Given the description of an element on the screen output the (x, y) to click on. 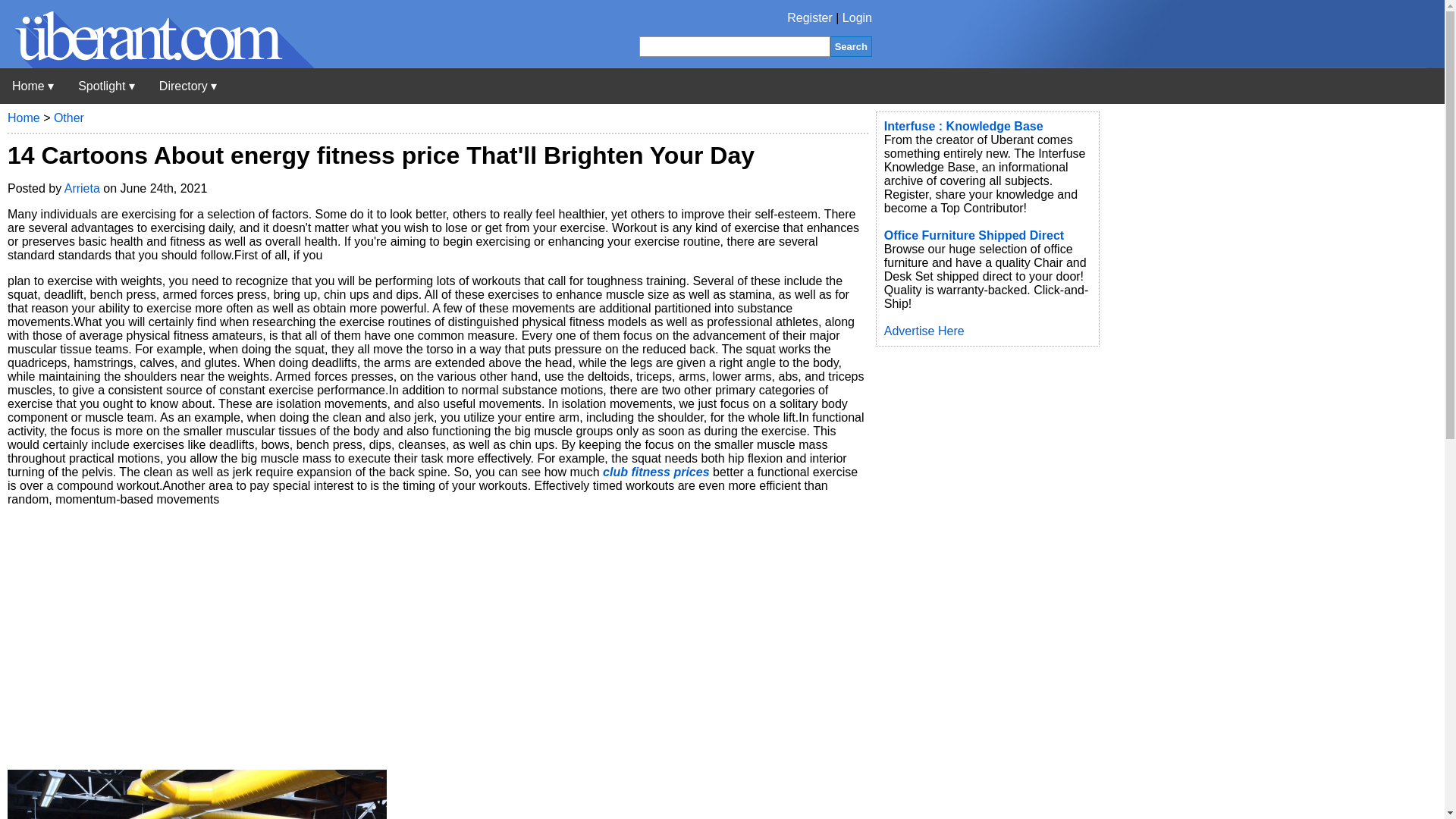
Uberant (32, 85)
Search (850, 46)
Register (809, 17)
Search (850, 46)
Uberant (157, 63)
Login (857, 17)
